Given the description of an element on the screen output the (x, y) to click on. 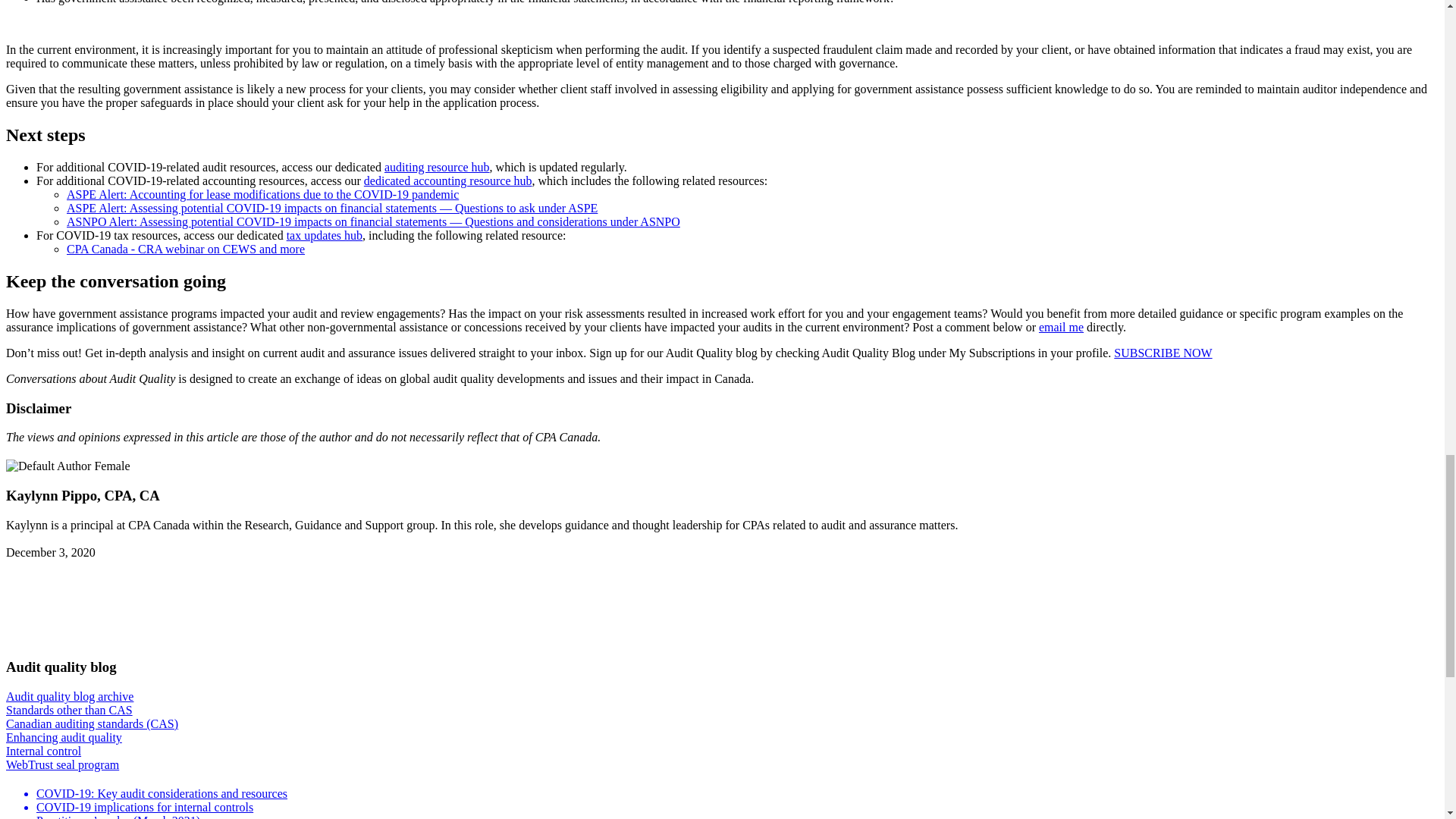
SUBSCRIBE NOW (1162, 352)
CPA Canada - CRA webinar on CEWS and more (185, 248)
dedicated accounting resource hub (448, 180)
auditing resource hub (436, 166)
email me (1061, 327)
tax updates hub (324, 235)
Default Author Female (68, 466)
